Given the description of an element on the screen output the (x, y) to click on. 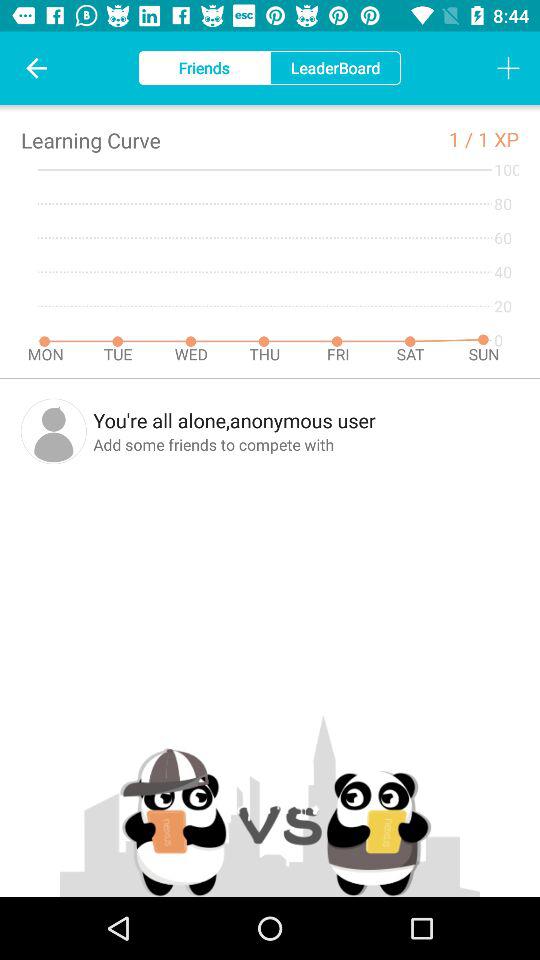
turn off the you re all item (306, 420)
